Given the description of an element on the screen output the (x, y) to click on. 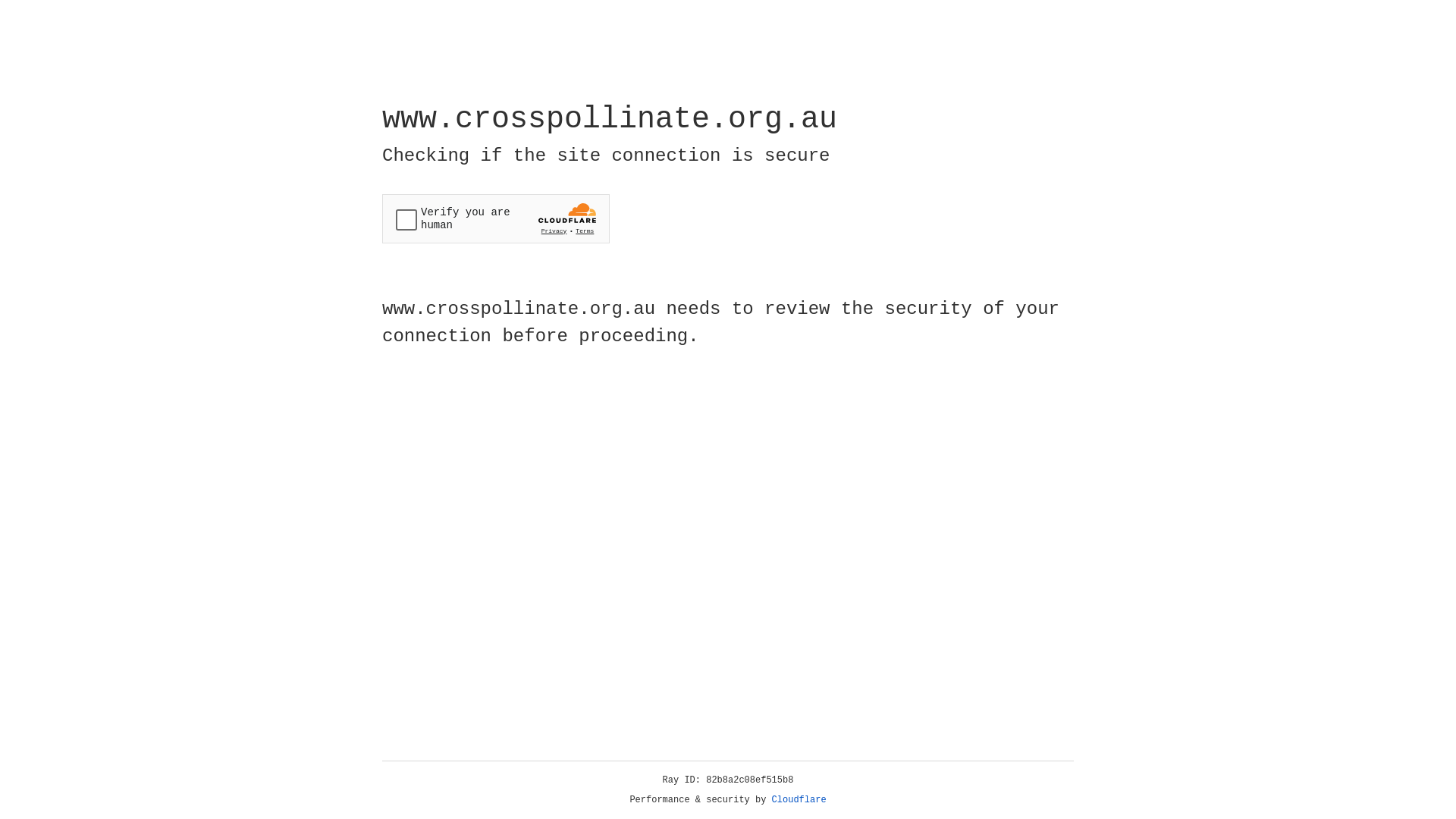
Widget containing a Cloudflare security challenge Element type: hover (495, 218)
Cloudflare Element type: text (798, 799)
